Given the description of an element on the screen output the (x, y) to click on. 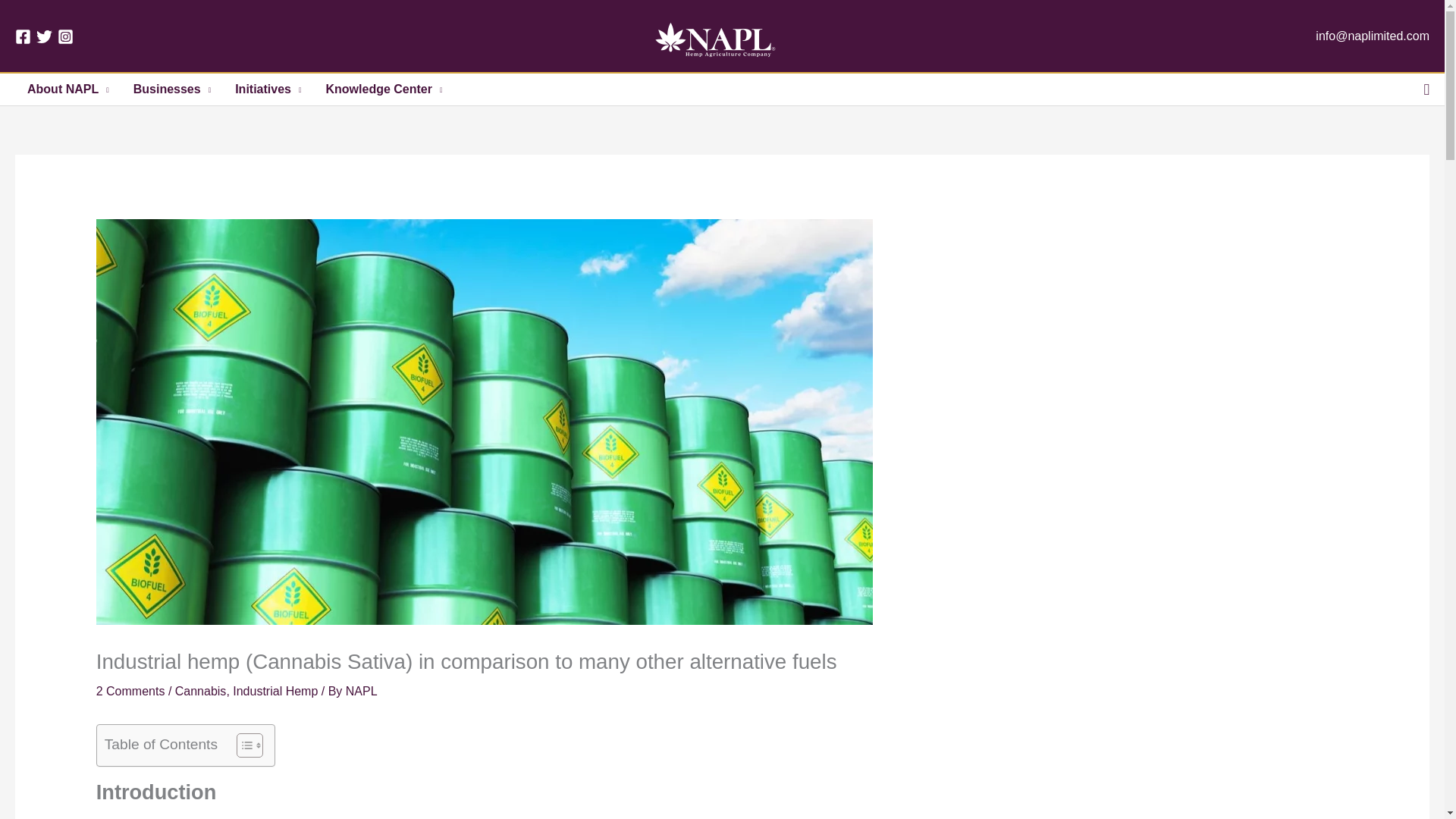
Businesses (171, 89)
Knowledge Center (384, 89)
View all posts by NAPL (361, 690)
About NAPL (67, 89)
Initiatives (267, 89)
